Given the description of an element on the screen output the (x, y) to click on. 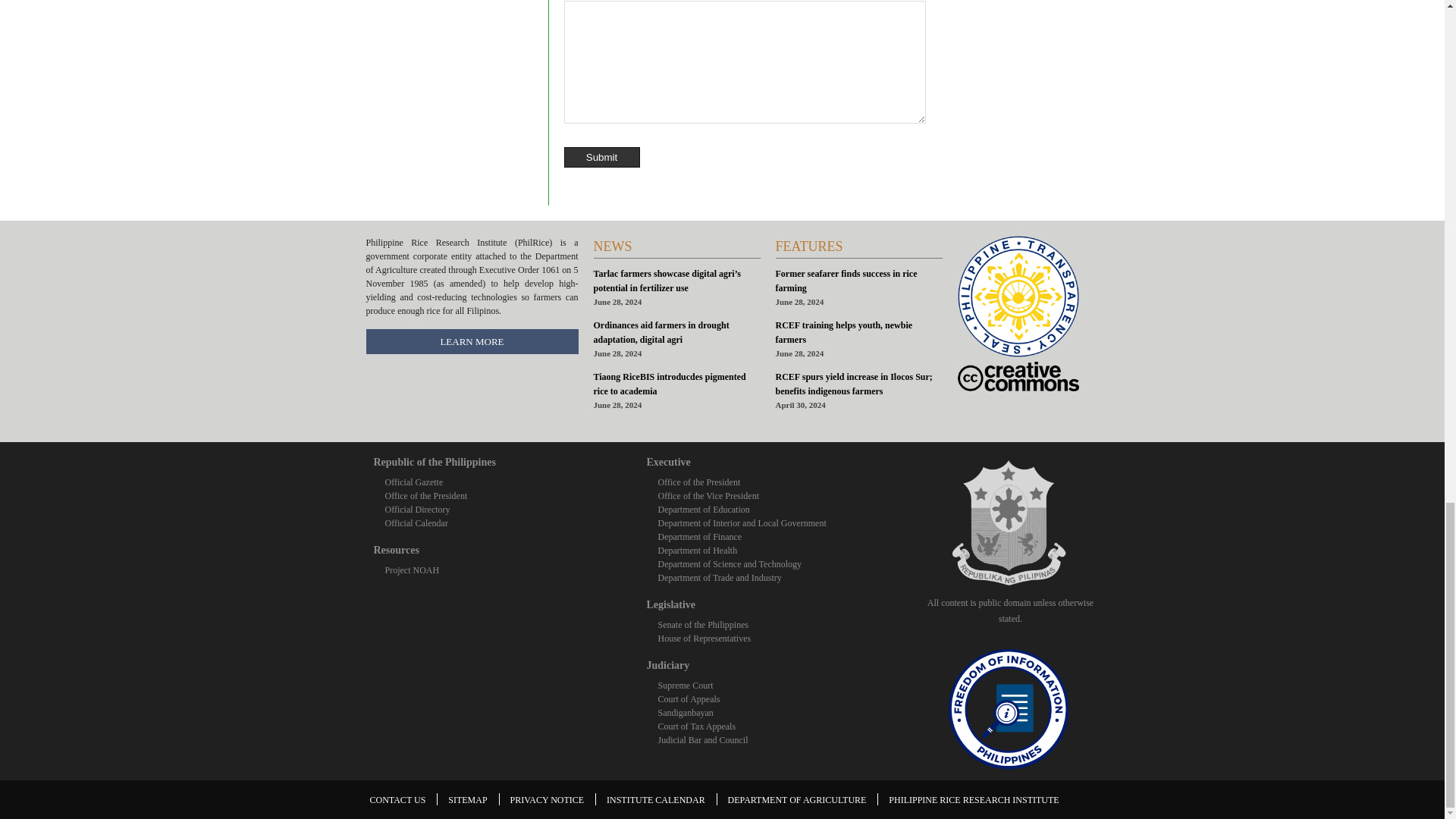
Submit (602, 157)
